Given the description of an element on the screen output the (x, y) to click on. 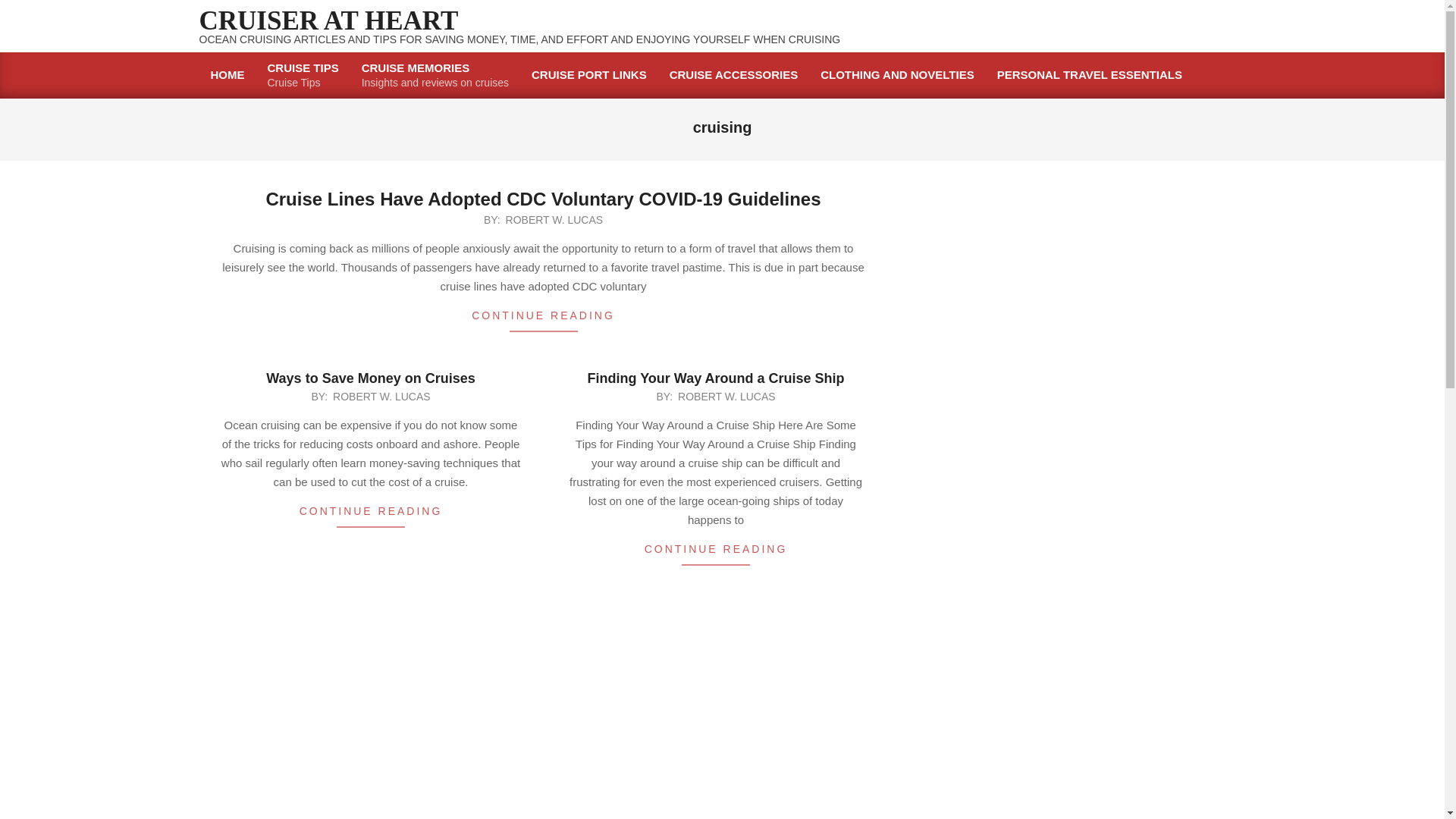
Cruise Lines Have Adopted CDC Voluntary COVID-19 Guidelines (542, 199)
Posts by Robert W. Lucas (381, 396)
CRUISER AT HEART (328, 20)
ROBERT W. LUCAS (303, 75)
CONTINUE READING (553, 219)
Posts by Robert W. Lucas (371, 514)
Posts by Robert W. Lucas (726, 396)
Finding Your Way Around a Cruise Ship (553, 219)
